Given the description of an element on the screen output the (x, y) to click on. 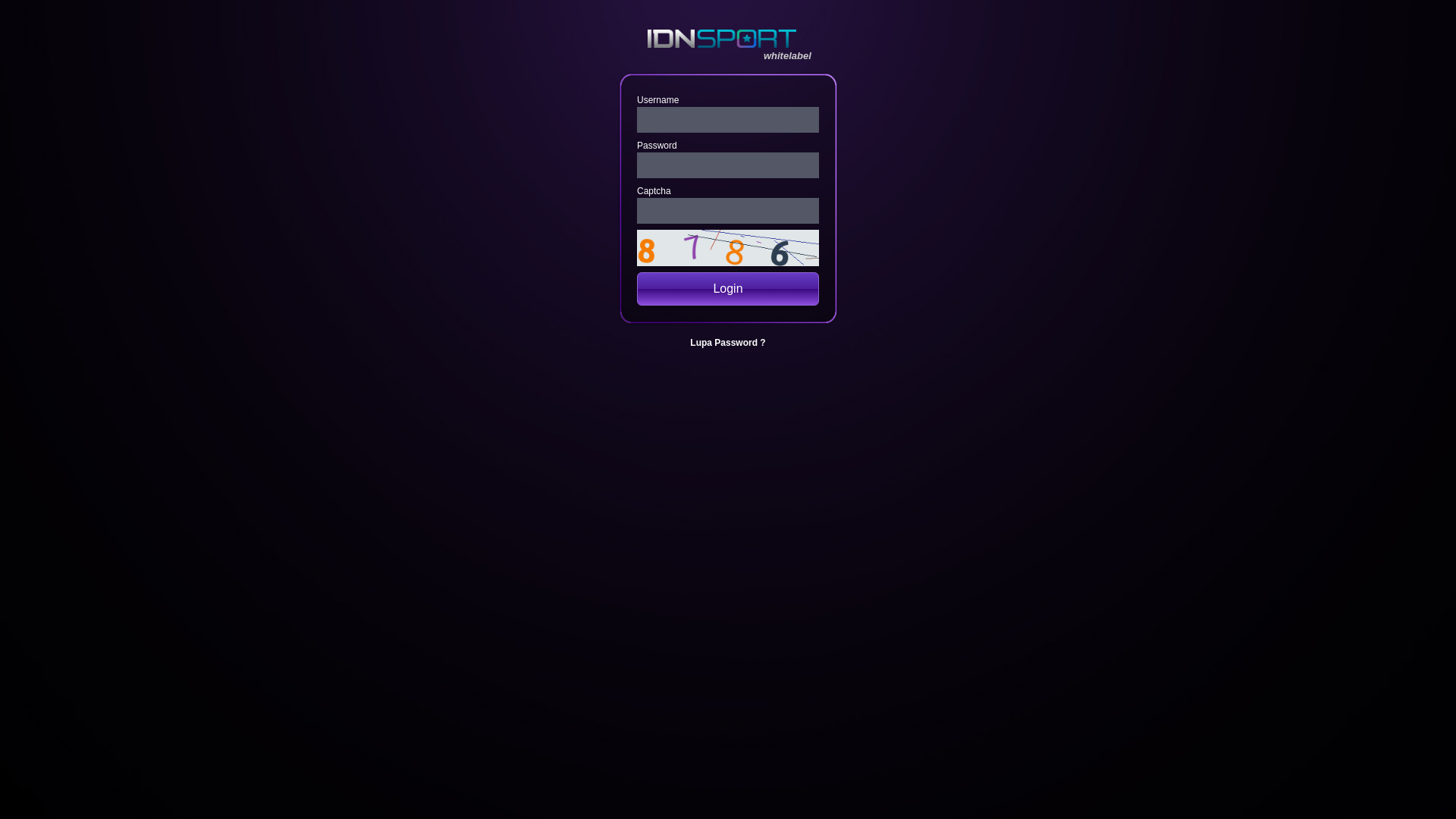
Lupa Password ? Element type: text (727, 342)
whitelabel Element type: text (749, 39)
Login Element type: text (728, 288)
